Given the description of an element on the screen output the (x, y) to click on. 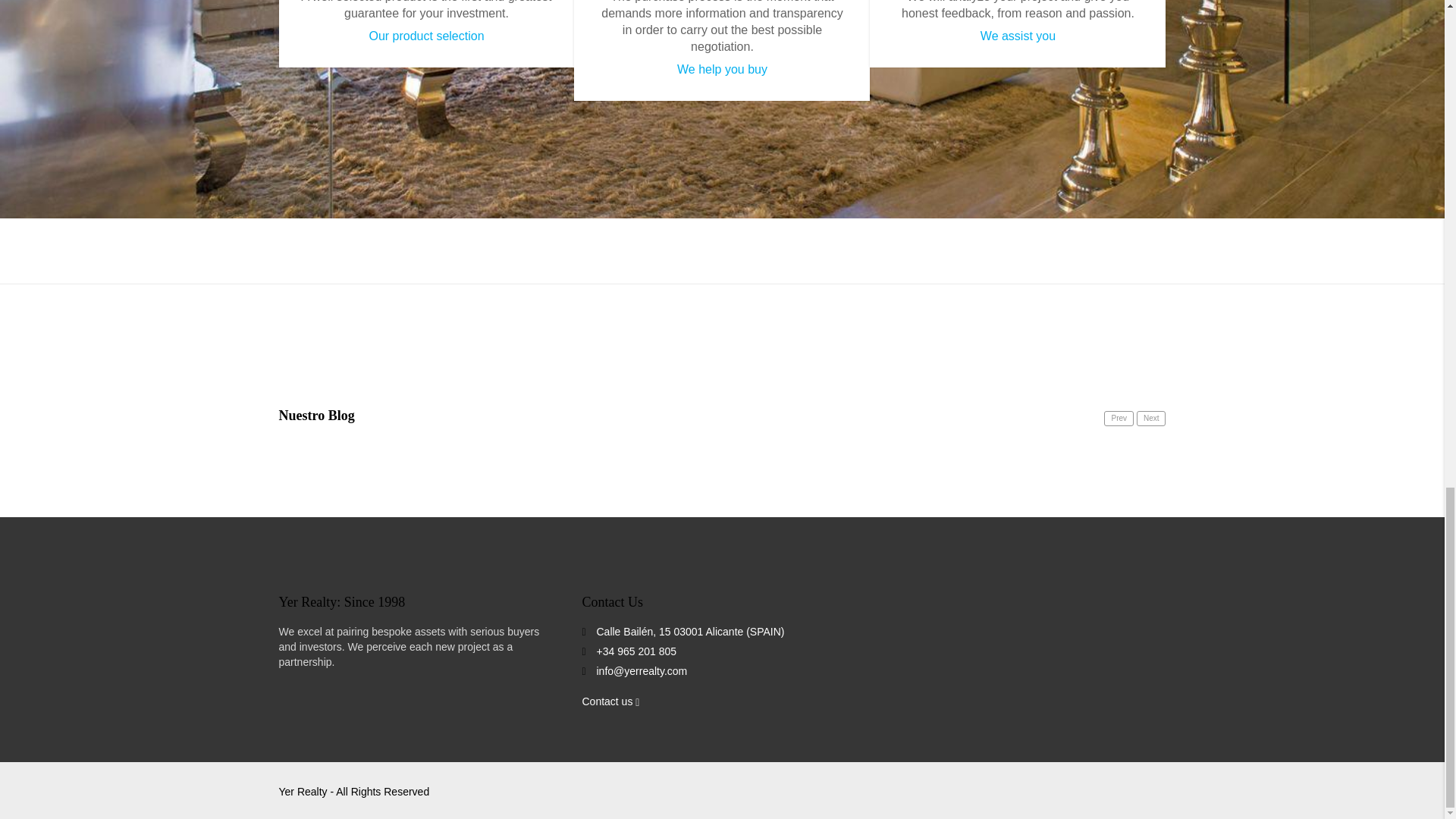
We help you buy (722, 69)
Next (1151, 418)
We assist you (1017, 35)
Prev (1118, 418)
Our product selection (425, 35)
